Given the description of an element on the screen output the (x, y) to click on. 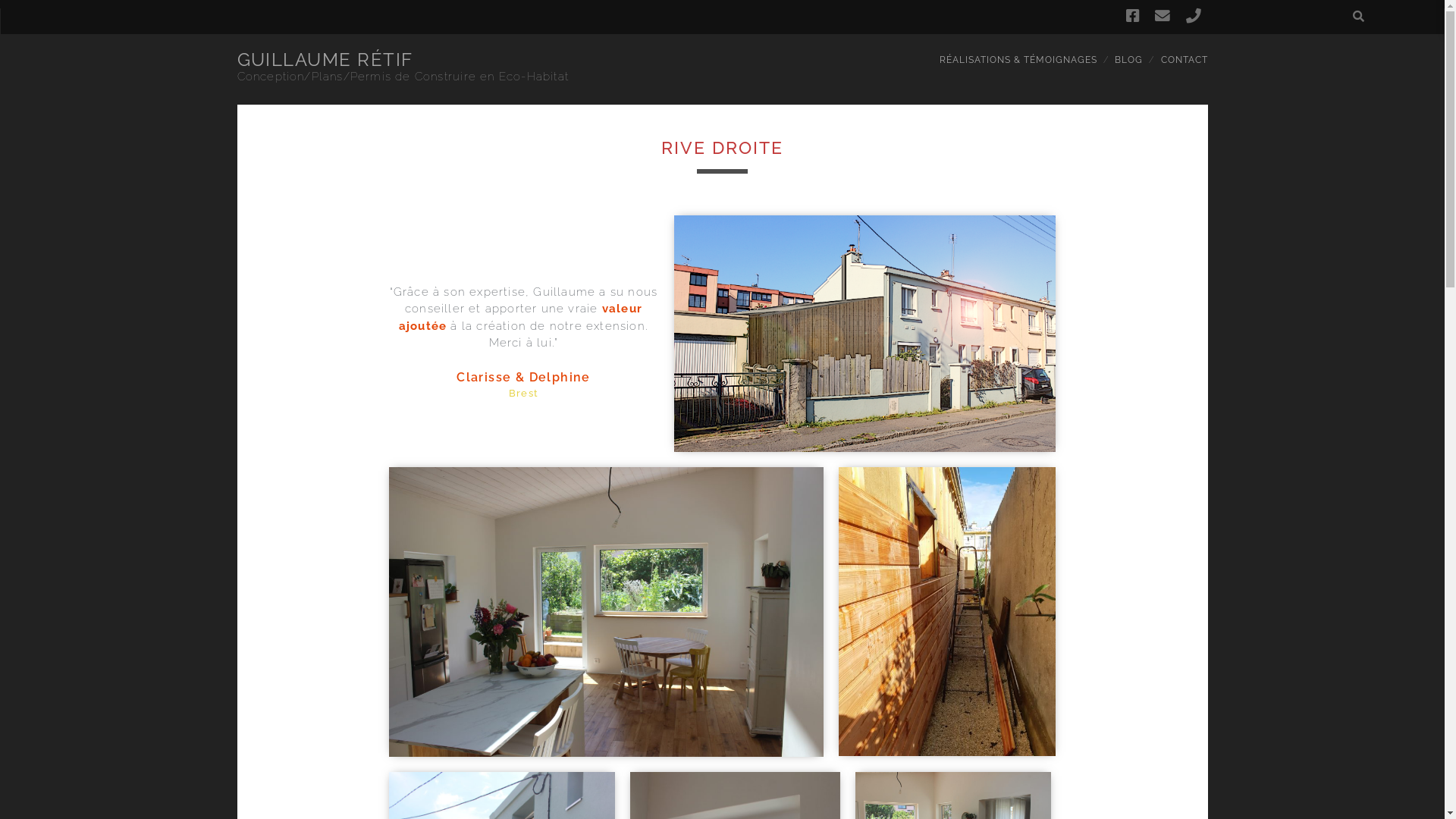
CONTACT Element type: text (1184, 60)
BLOG Element type: text (1128, 60)
email Element type: hover (1162, 15)
facebook Element type: hover (1132, 15)
